Given the description of an element on the screen output the (x, y) to click on. 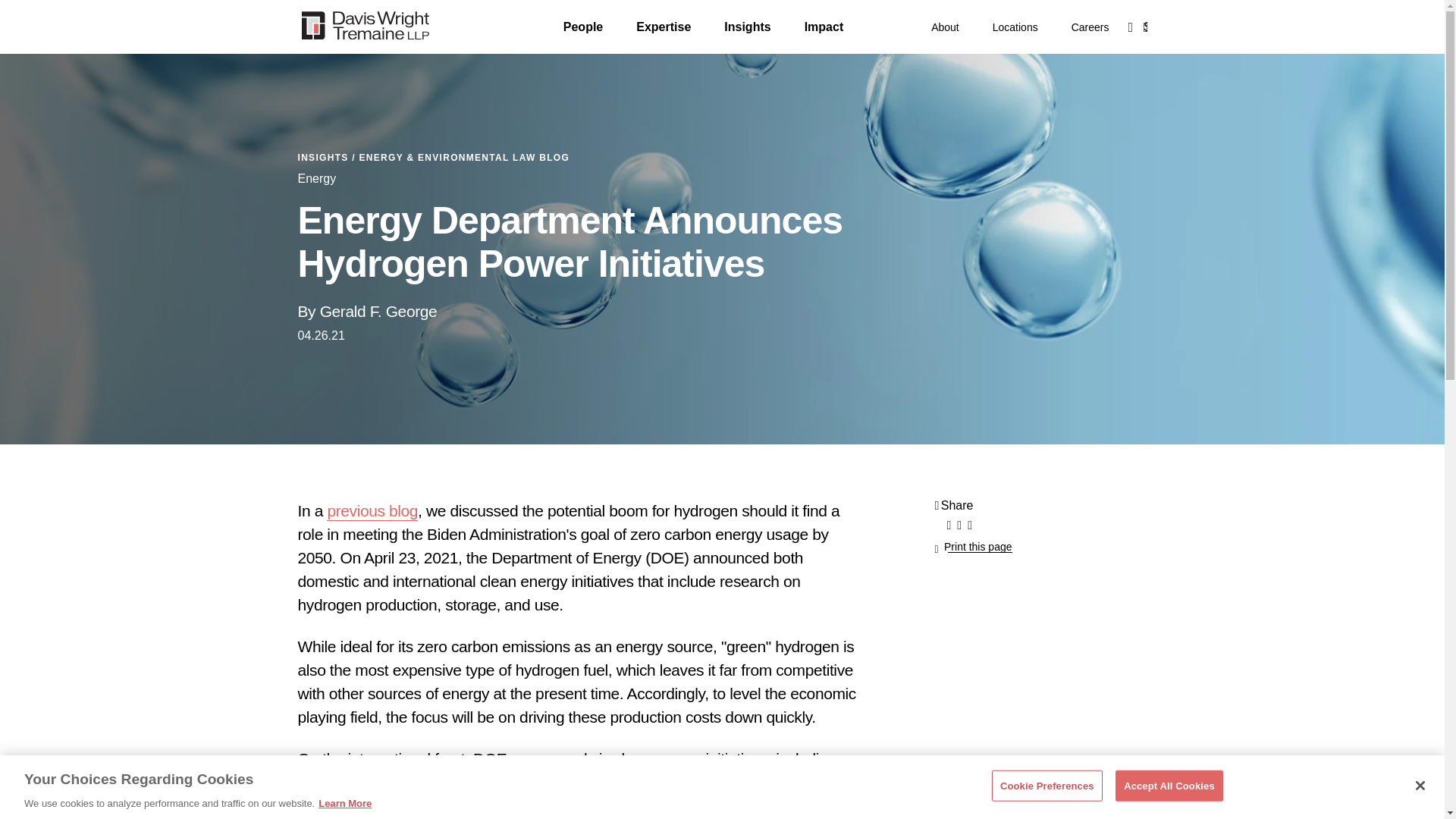
Careers (1090, 27)
Expertise (663, 27)
Impact (824, 27)
Insights (746, 27)
Locations (1015, 27)
About (945, 27)
People (582, 27)
Print this page (972, 546)
previous blog (371, 511)
Energy (316, 178)
